Given the description of an element on the screen output the (x, y) to click on. 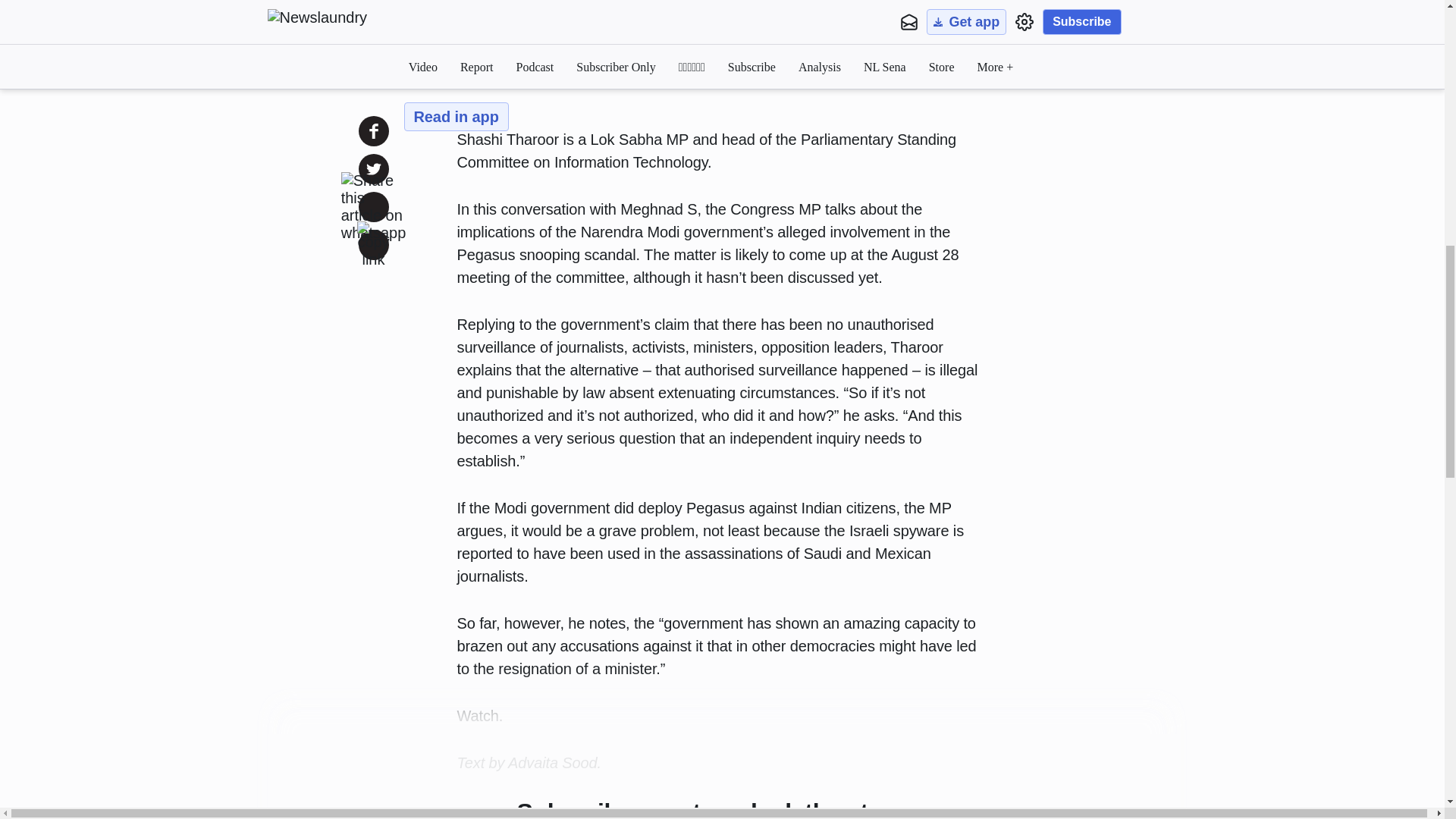
2021-07-27 11:30 (568, 64)
NL Team (508, 64)
